Given the description of an element on the screen output the (x, y) to click on. 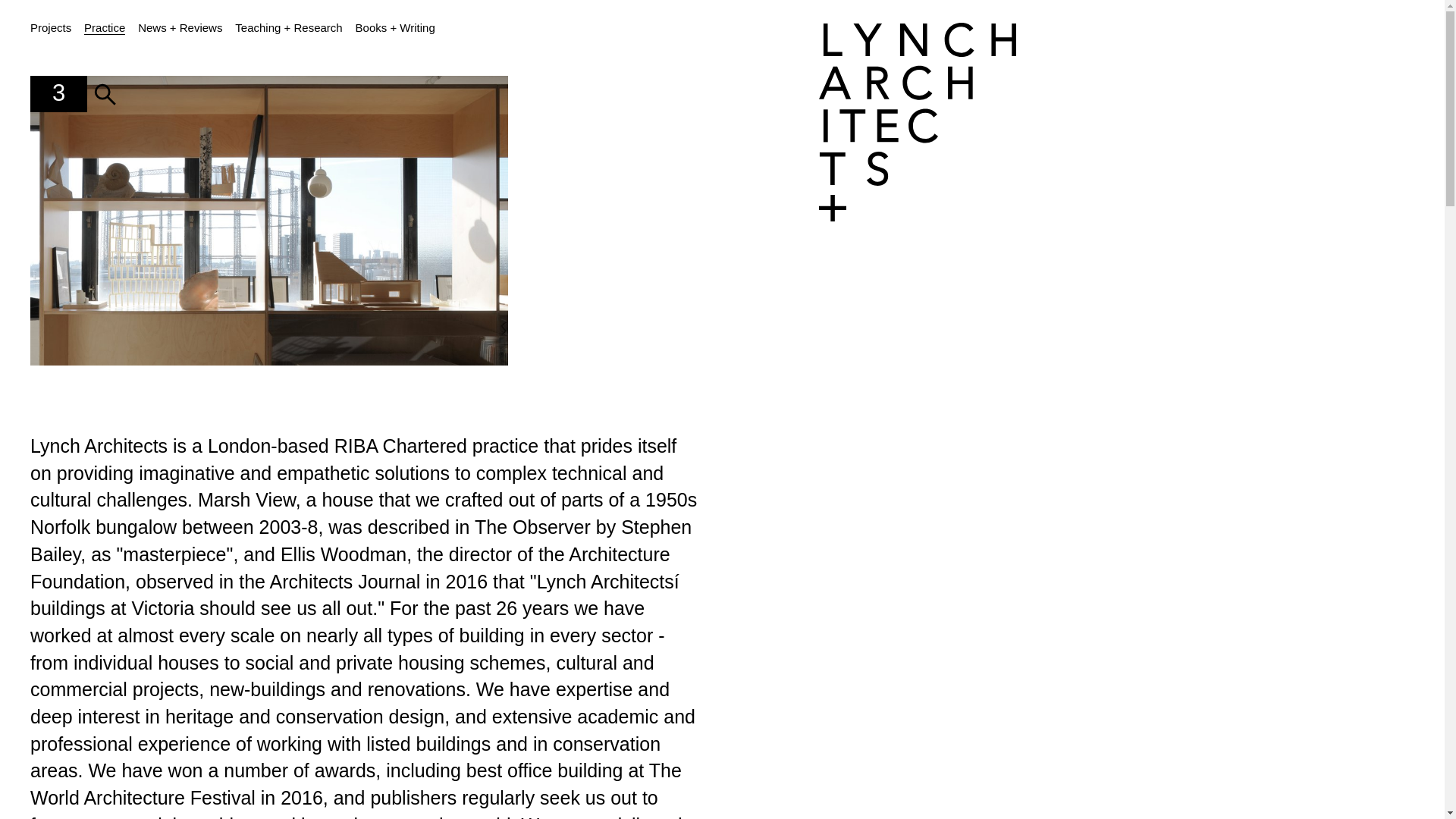
Practice (104, 28)
Projects (50, 27)
